Given the description of an element on the screen output the (x, y) to click on. 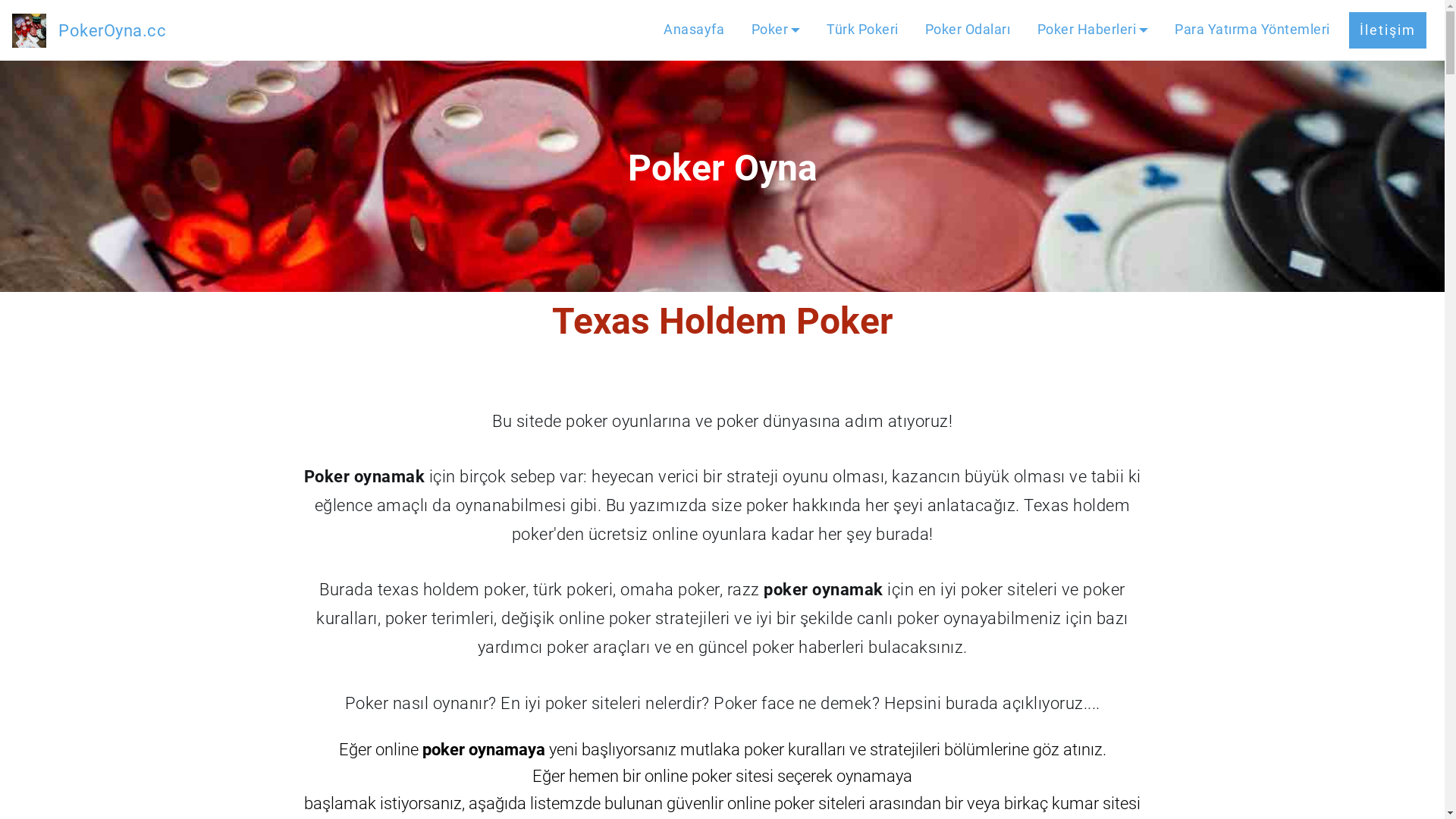
Poker Element type: text (775, 29)
PokerOyna.cc Element type: text (112, 30)
poker oyna Element type: hover (29, 30)
Anasayfa Element type: text (693, 29)
Poker Haberleri Element type: text (1092, 29)
